Given the description of an element on the screen output the (x, y) to click on. 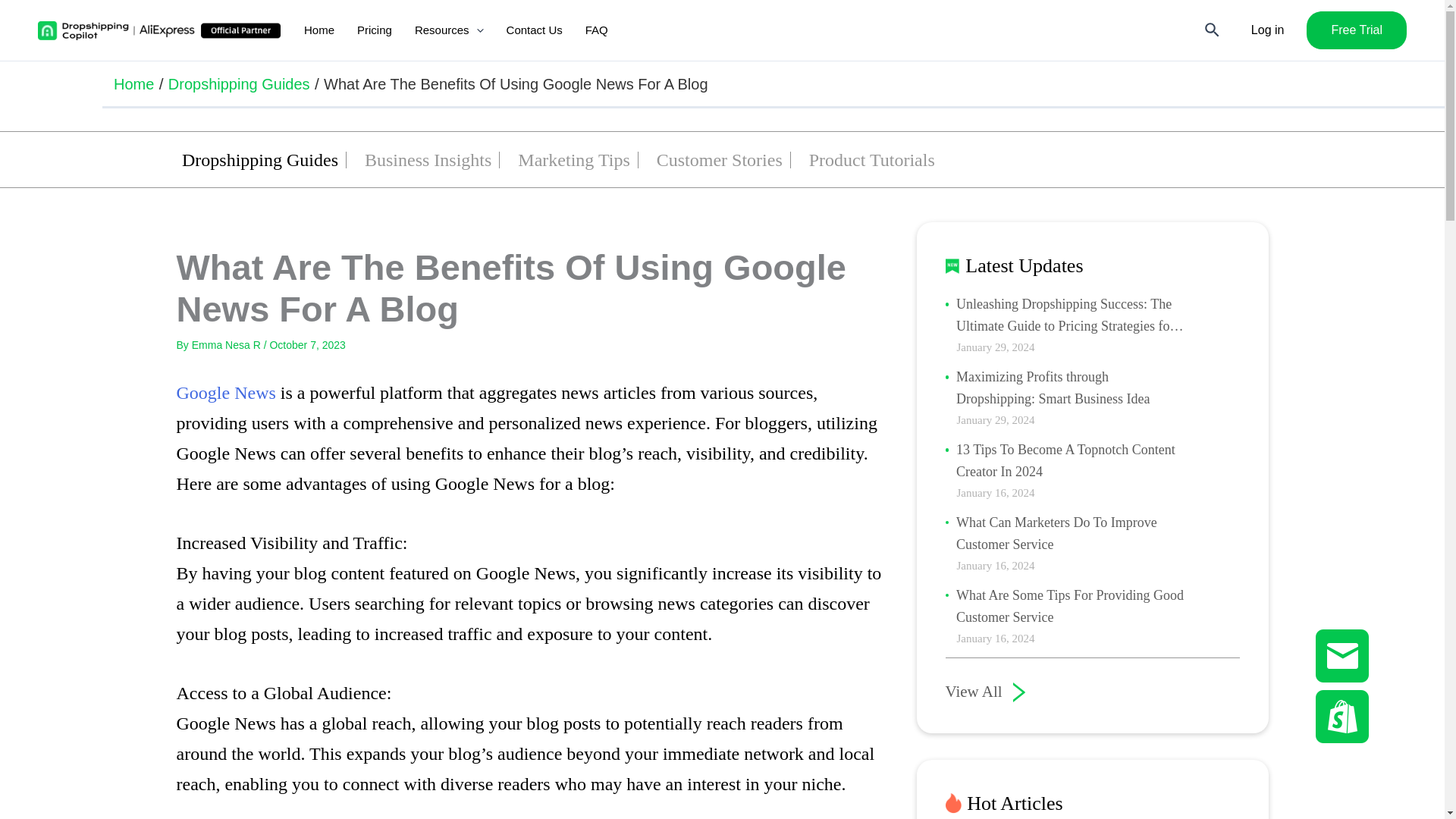
Free Trial (1356, 30)
Pricing (374, 30)
Product Tutorials (871, 160)
View all posts by Emma Nesa R (227, 345)
Home (133, 83)
Customer Stories (719, 160)
FAQ (596, 30)
Business Insights (428, 160)
Resources (449, 30)
Marketing Tips (573, 160)
Contact Us (534, 30)
Dropshipping Guides (239, 83)
What Are The Recent Google Updates (203, 392)
Dropshipping Guides (259, 160)
Log in (1267, 29)
